Given the description of an element on the screen output the (x, y) to click on. 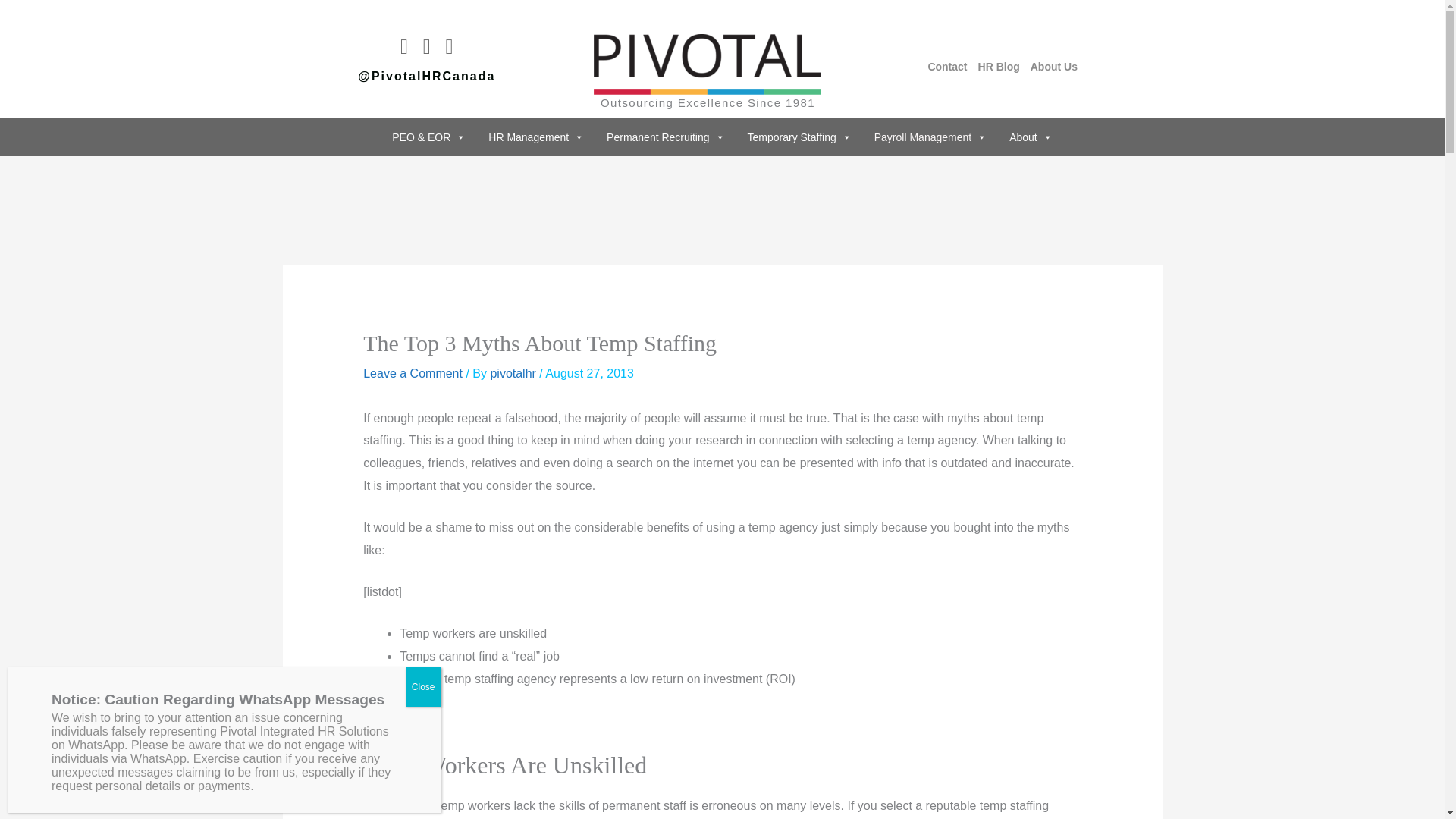
Contact (947, 66)
HR Management (536, 136)
HR Blog (999, 66)
View all posts by pivotalhr (513, 373)
About Us (1053, 66)
Pivotal-logo-high (706, 64)
